Given the description of an element on the screen output the (x, y) to click on. 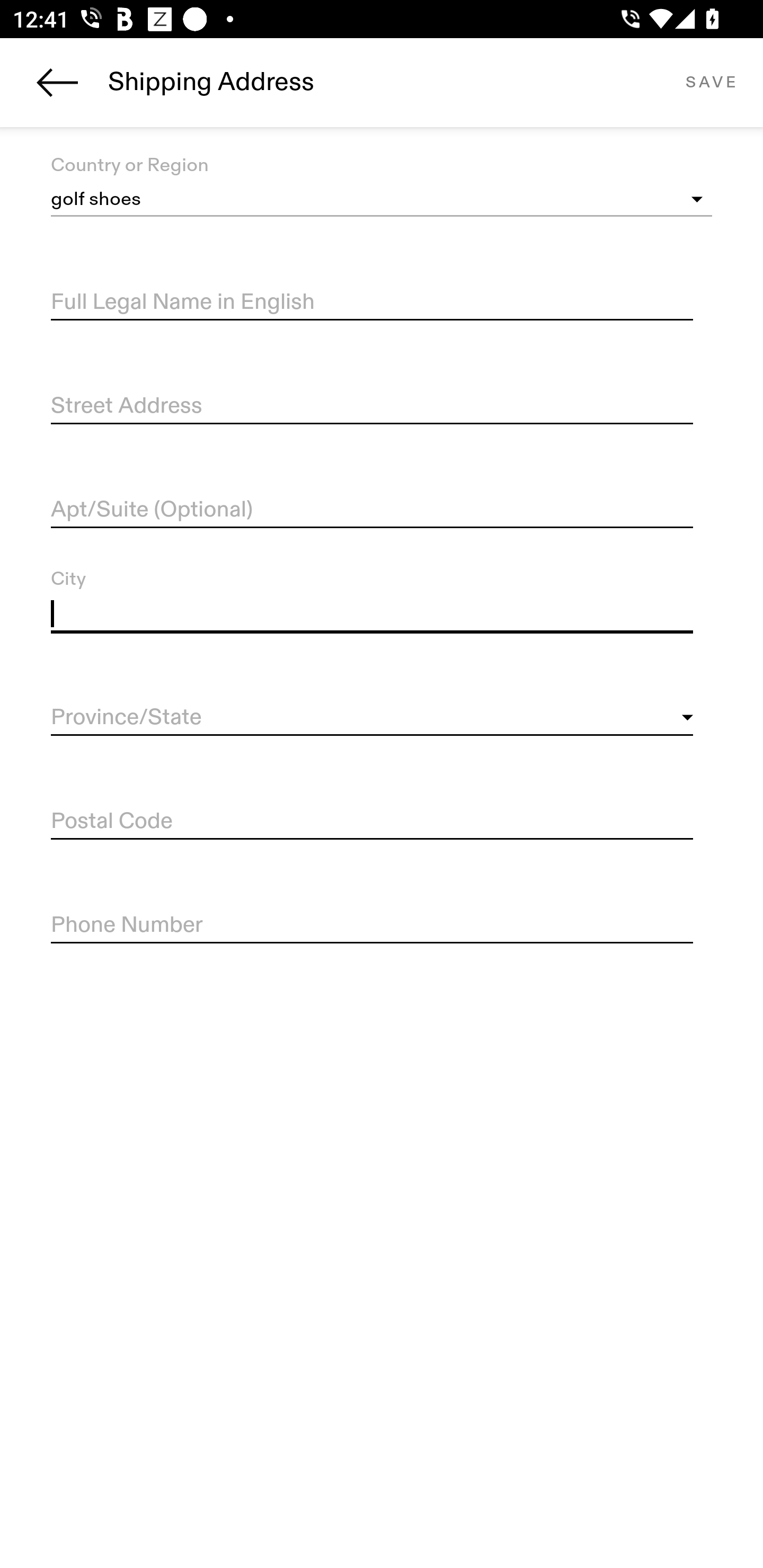
Navigate up (56, 82)
SAVE (710, 81)
golf shoes (381, 199)
Full Legal Name in English (371, 302)
Street Address (371, 406)
Apt/Suite (Optional) (371, 509)
City (371, 614)
Province/State (371, 717)
Postal Code (371, 821)
Phone Number (371, 925)
